Given the description of an element on the screen output the (x, y) to click on. 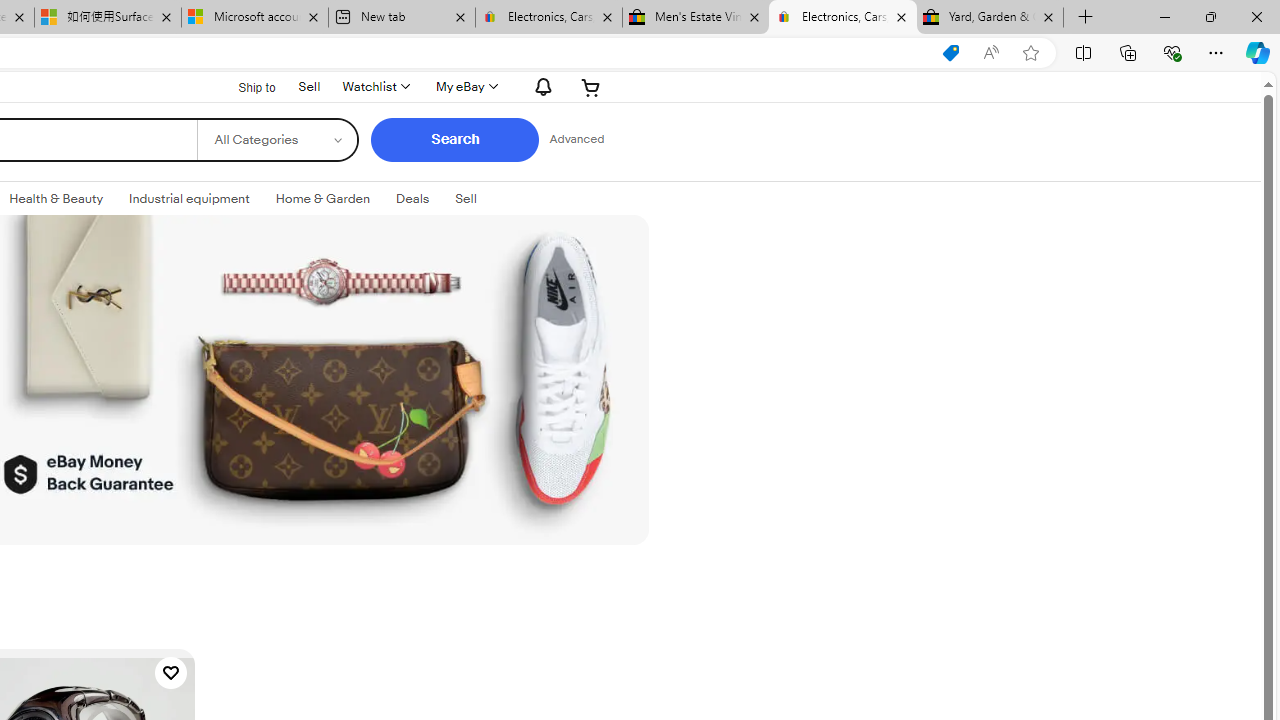
This site has coupons! Shopping in Microsoft Edge (950, 53)
Microsoft account | Account Checkup (254, 17)
Industrial equipment (189, 198)
AutomationID: gh-eb-Alerts (540, 86)
Sell (465, 198)
Electronics, Cars, Fashion, Collectibles & More | eBay (843, 17)
My eBay (464, 86)
Advanced Search (576, 139)
Industrial equipmentExpand: Industrial equipment (189, 199)
